Given the description of an element on the screen output the (x, y) to click on. 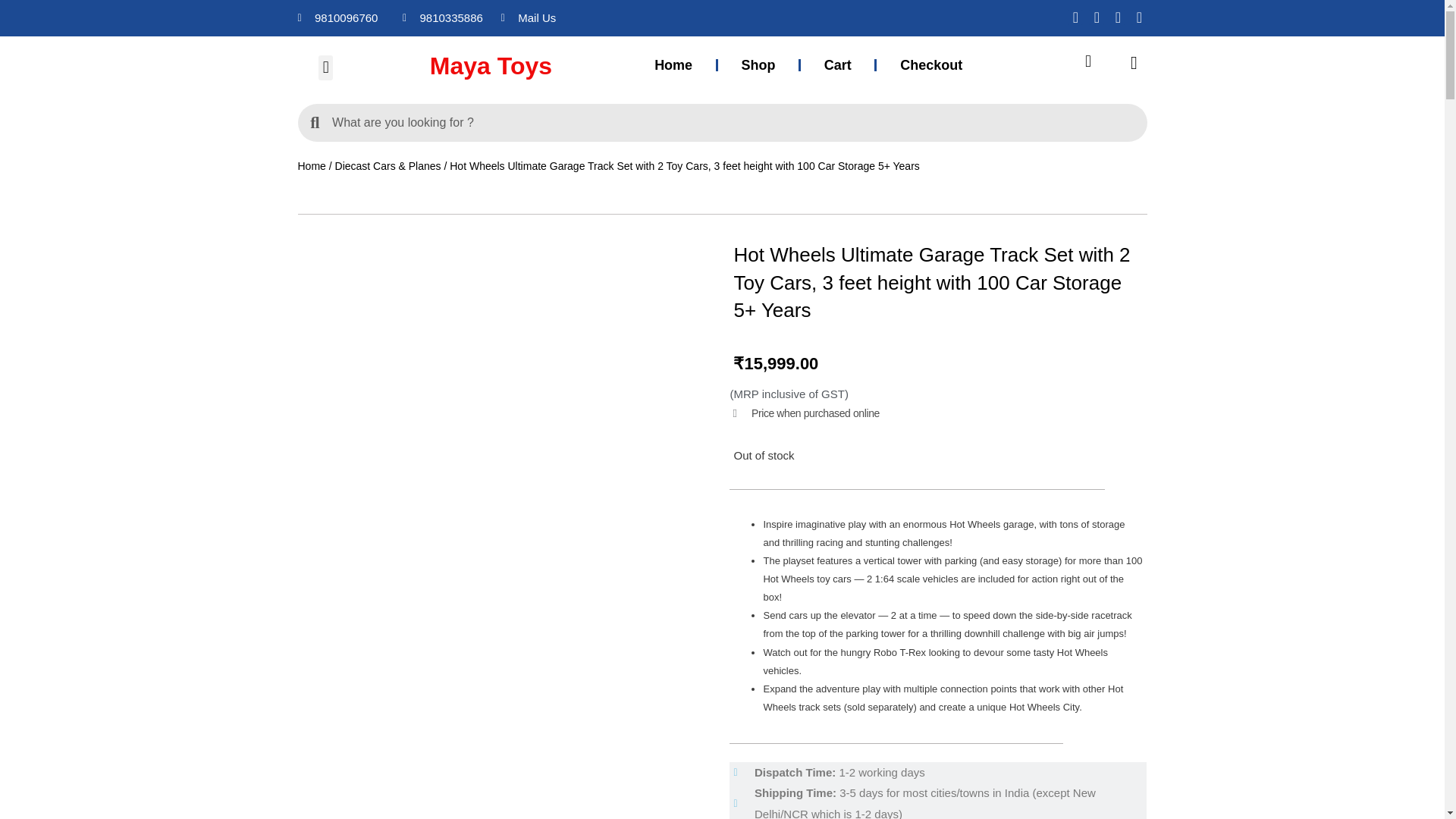
Linkedin (1139, 17)
Instagram (1096, 17)
Twitter (1117, 17)
9810335886 (444, 17)
Mail Us (591, 17)
Home (672, 64)
Maya Toys (522, 66)
Cart (837, 64)
Checkout (930, 64)
Shop (757, 64)
Facebook (1075, 17)
